Given the description of an element on the screen output the (x, y) to click on. 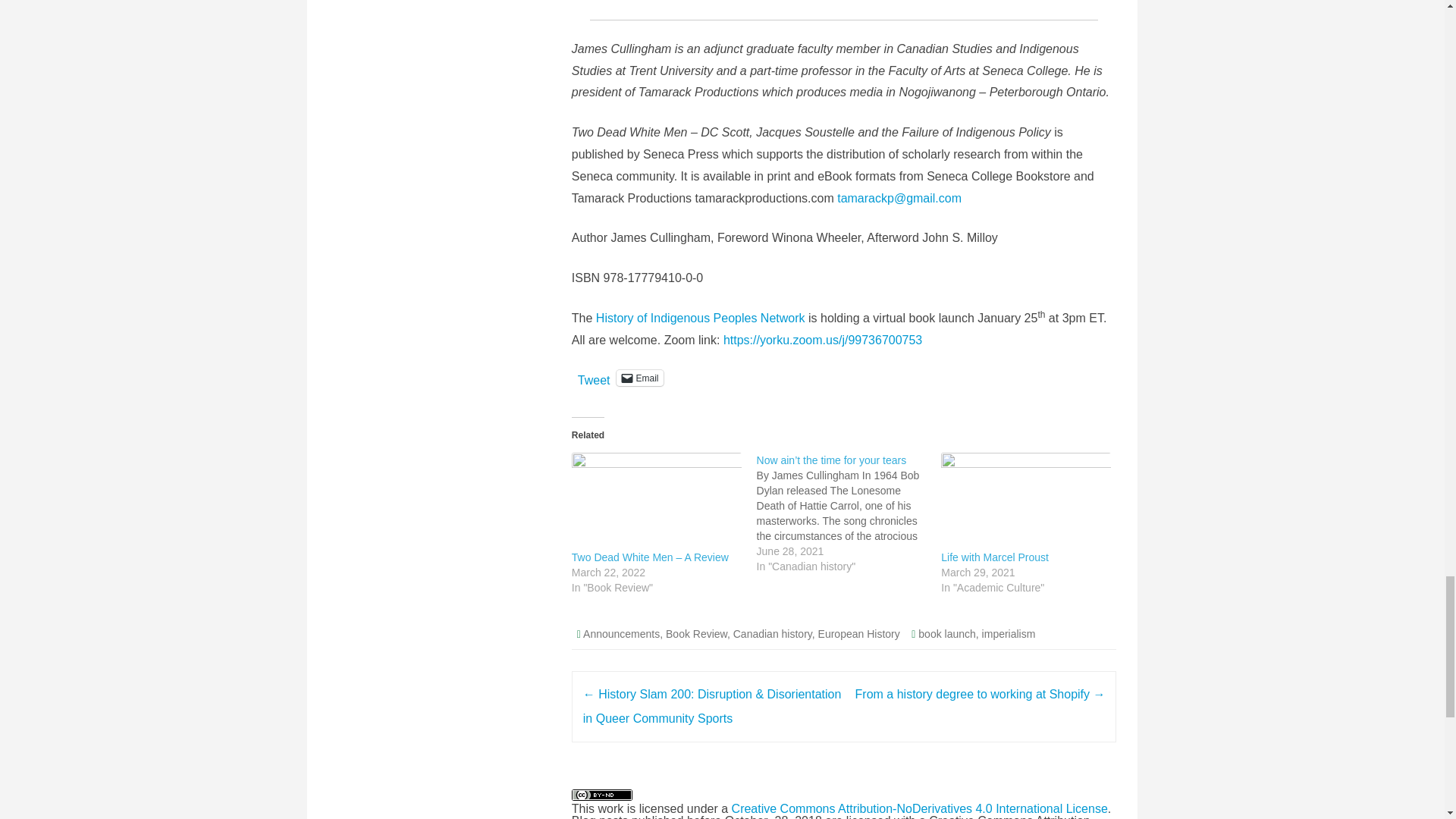
Click to email a link to a friend (638, 377)
Life with Marcel Proust (994, 557)
Tweet (594, 377)
Email (638, 377)
Life with Marcel Proust (994, 557)
Life with Marcel Proust (1025, 500)
History of Indigenous Peoples Network (700, 318)
